Given the description of an element on the screen output the (x, y) to click on. 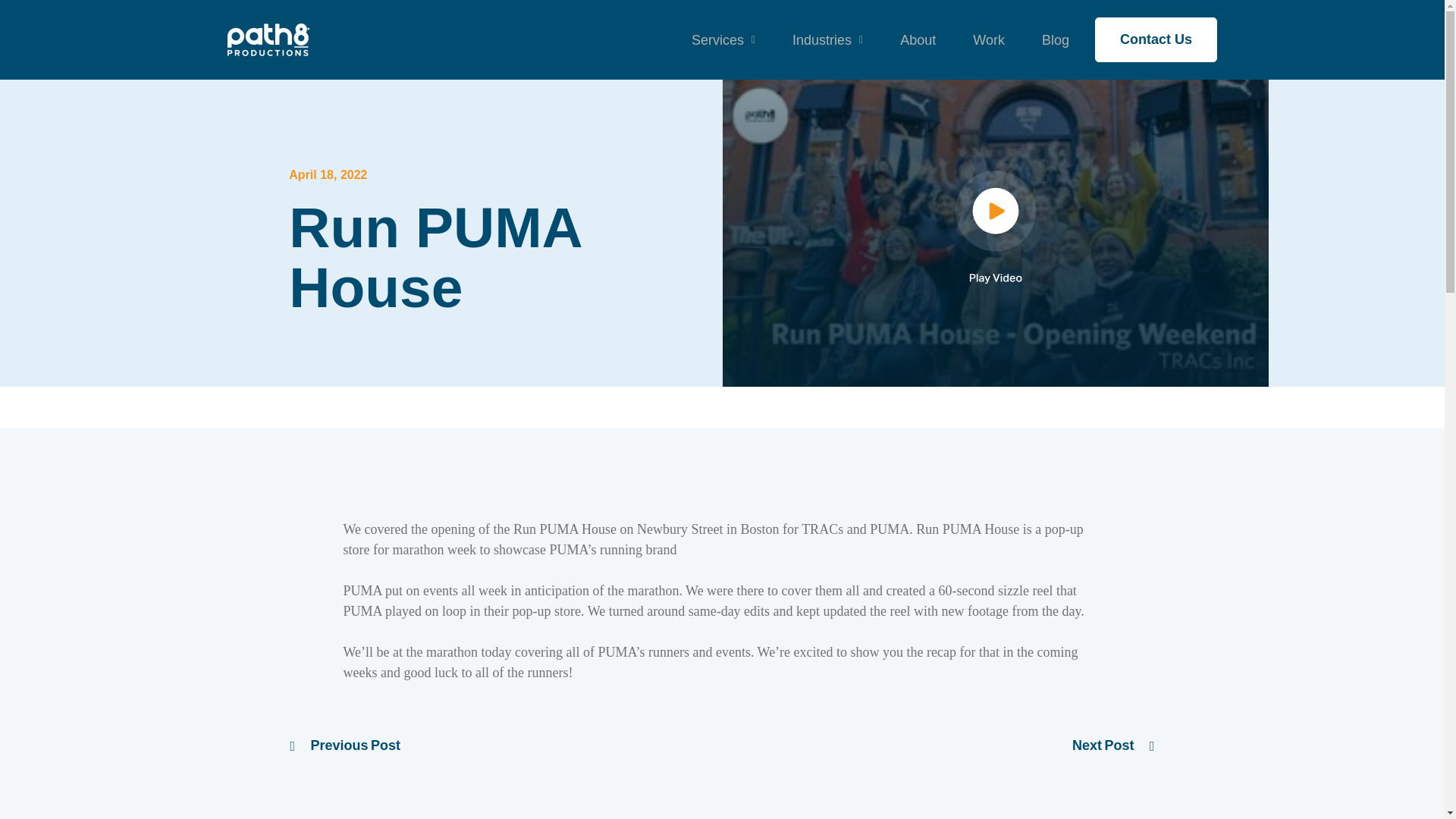
Contact Us (1155, 39)
Next (1112, 745)
Previous (344, 745)
Services (718, 39)
